Given the description of an element on the screen output the (x, y) to click on. 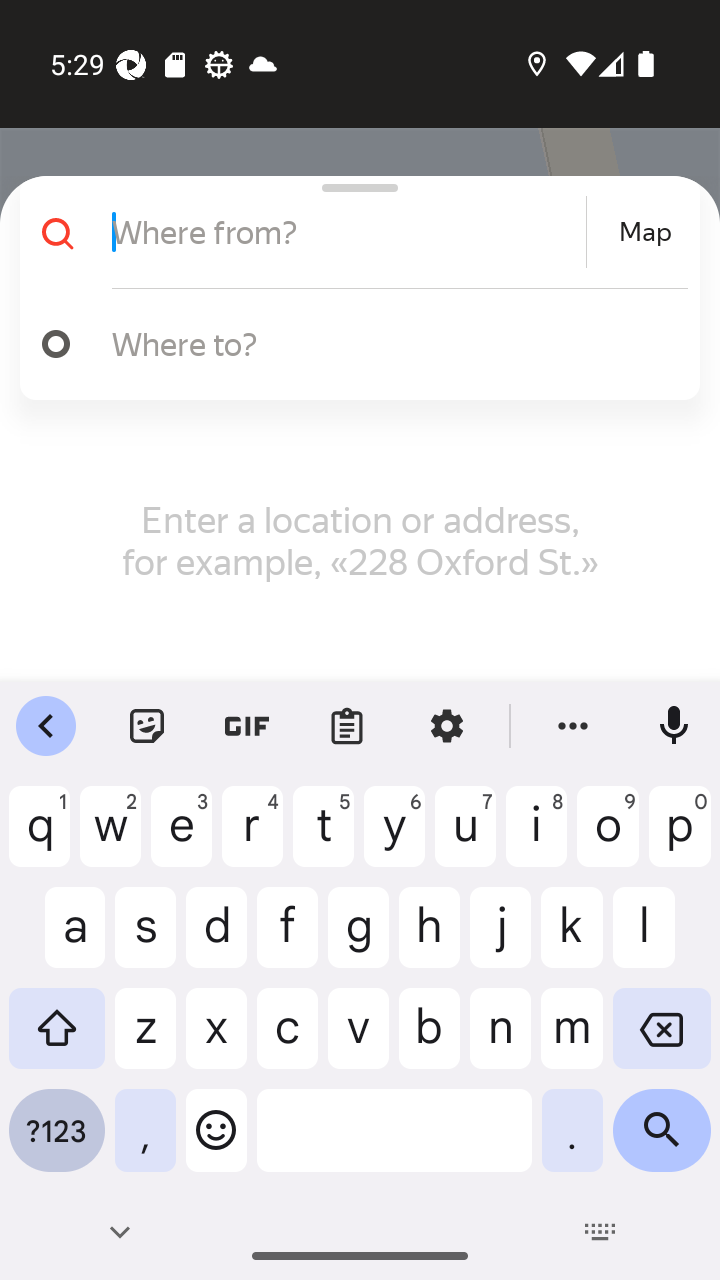
Where from? Map Map (352, 232)
Map (645, 232)
Where from? (346, 232)
Where to? (352, 343)
Where to? (390, 343)
